Given the description of an element on the screen output the (x, y) to click on. 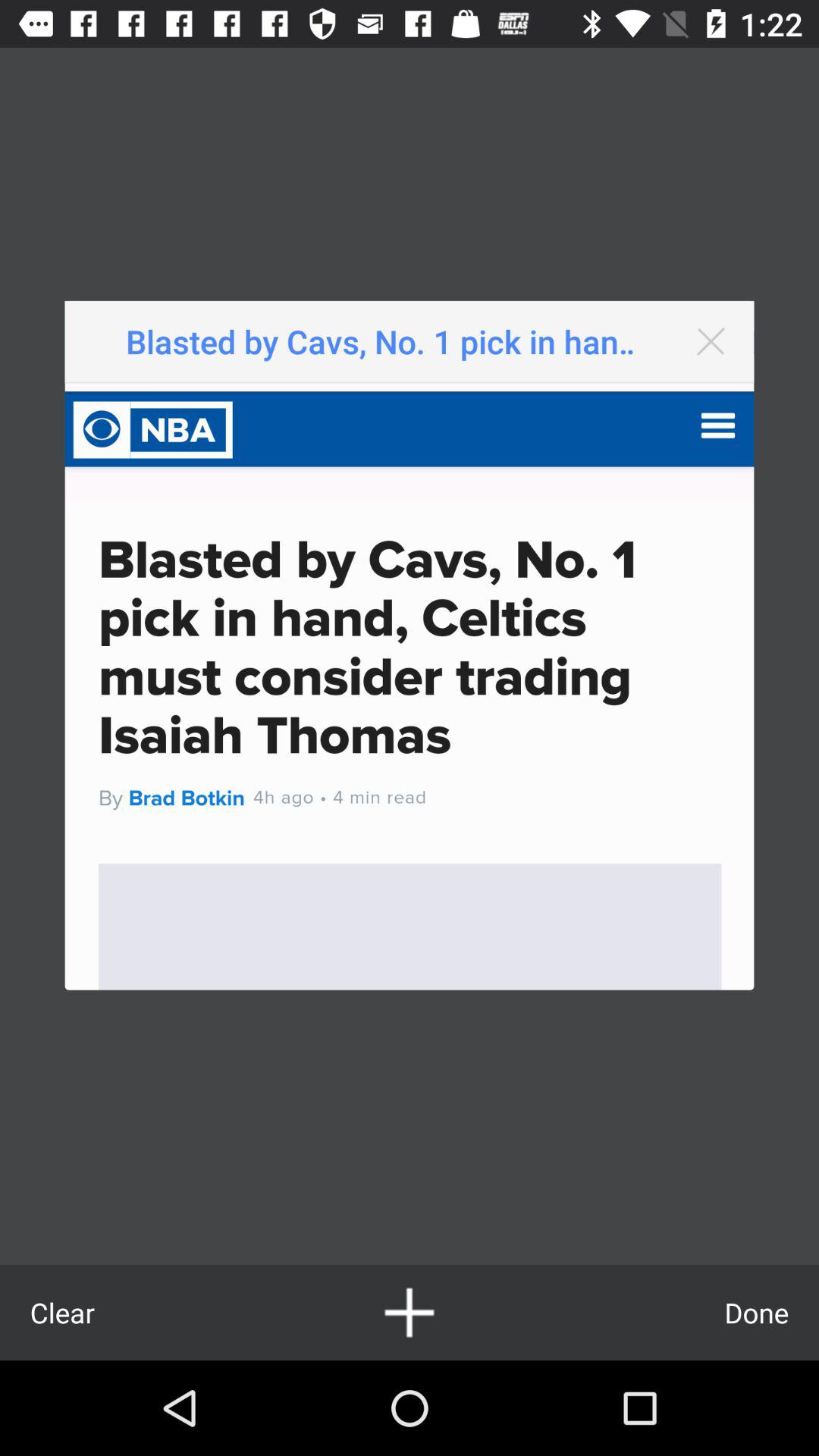
click the item next to the clear (409, 1312)
